Given the description of an element on the screen output the (x, y) to click on. 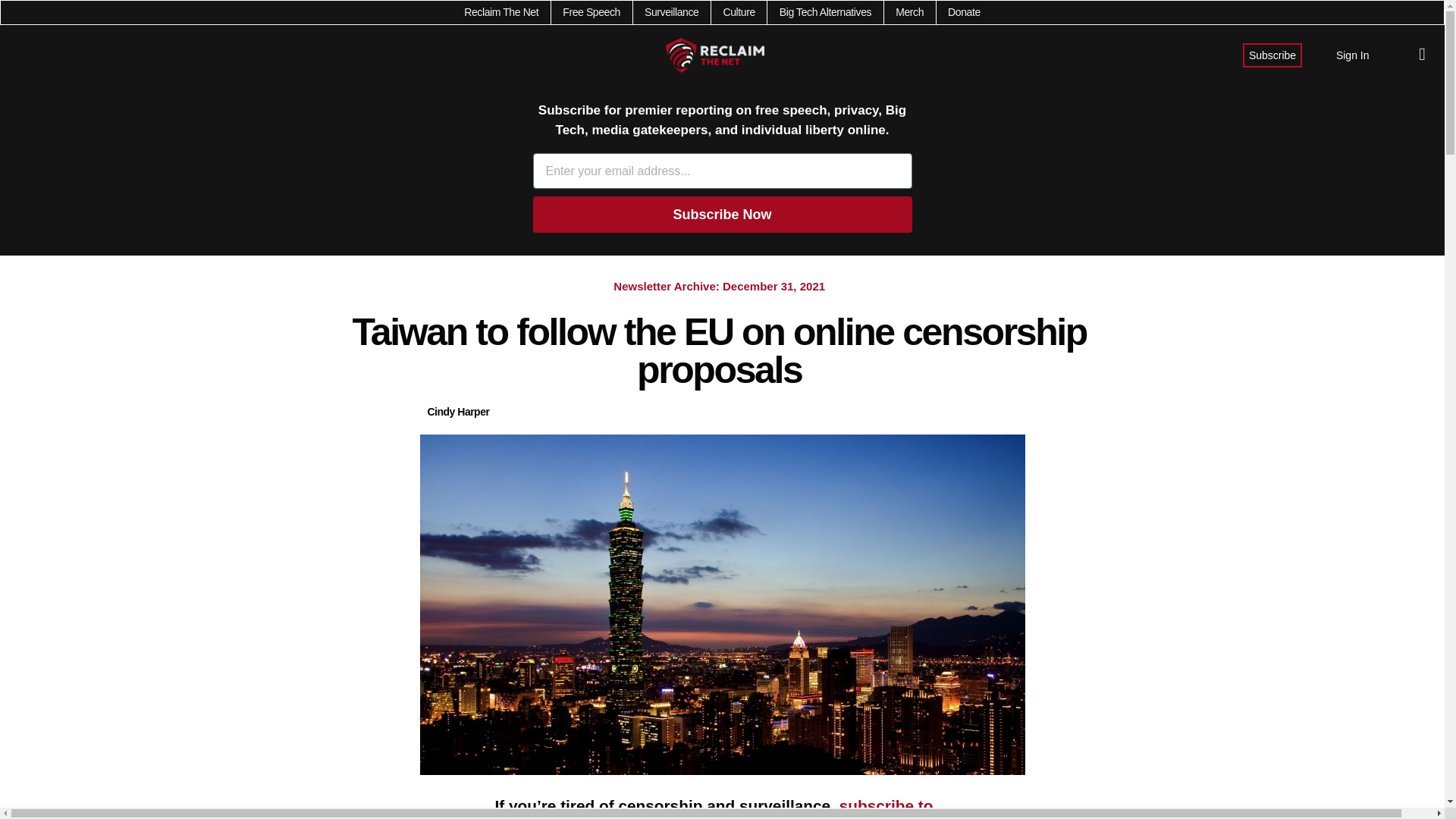
Surveillance (671, 12)
Subscribe Now (721, 214)
Culture (738, 12)
Cindy Harper (458, 412)
Donate (963, 12)
Reclaim The Net (501, 12)
Big Tech Alternatives (824, 12)
Subscribe (1272, 55)
Sign In (1353, 55)
subscribe to Reclaim The Net. (714, 807)
